Given the description of an element on the screen output the (x, y) to click on. 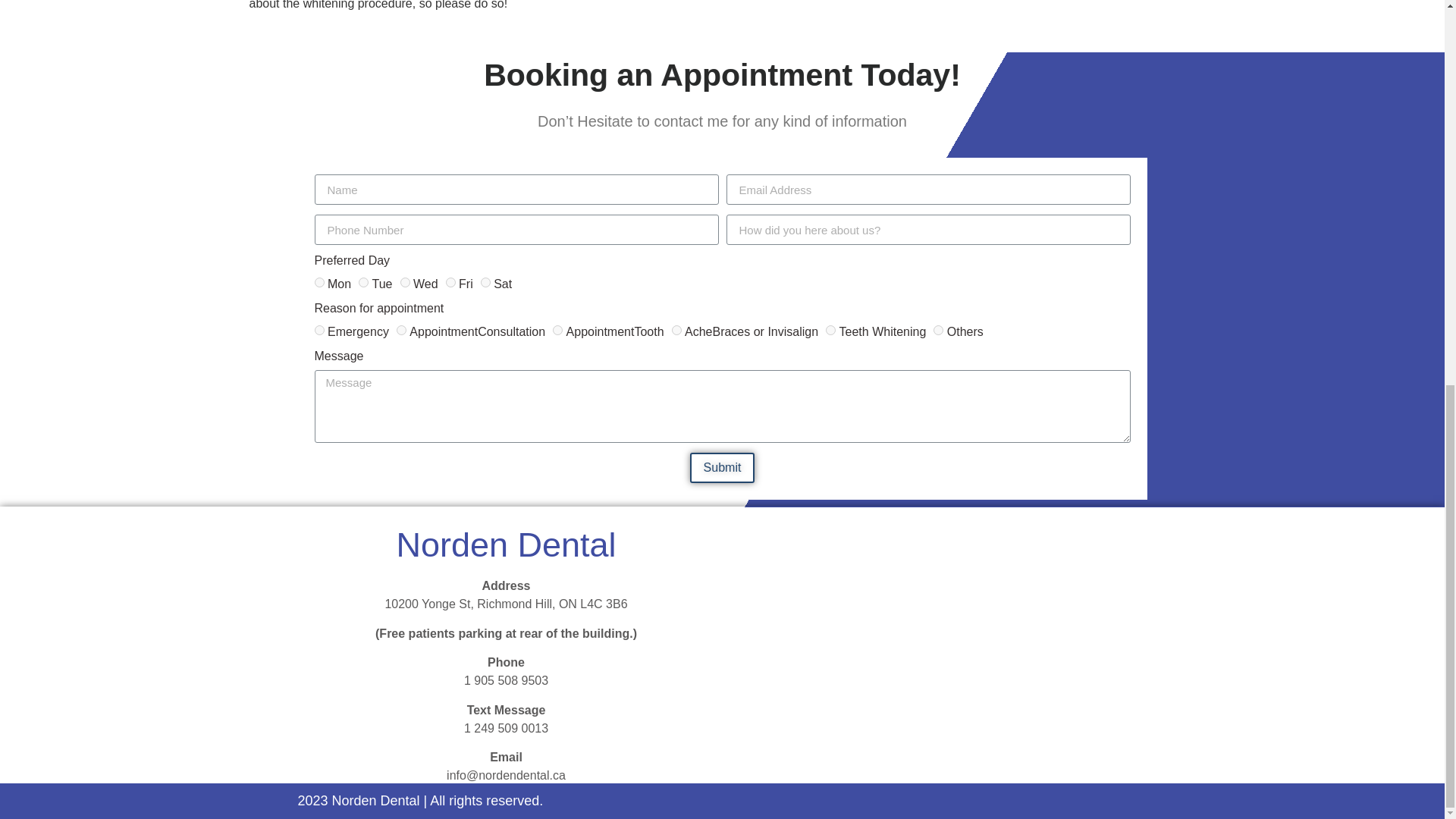
Fri (450, 282)
AcheBraces or Invisalign (676, 329)
Norden Dental 10200 Yonge St, Richmond Hill, ON L4C 3B6 (937, 642)
AppointmentTooth  (557, 329)
Teeth Whitening (830, 329)
Wed (405, 282)
AppointmentConsultation  (401, 329)
Mon (318, 282)
Others (938, 329)
Sat (485, 282)
